Given the description of an element on the screen output the (x, y) to click on. 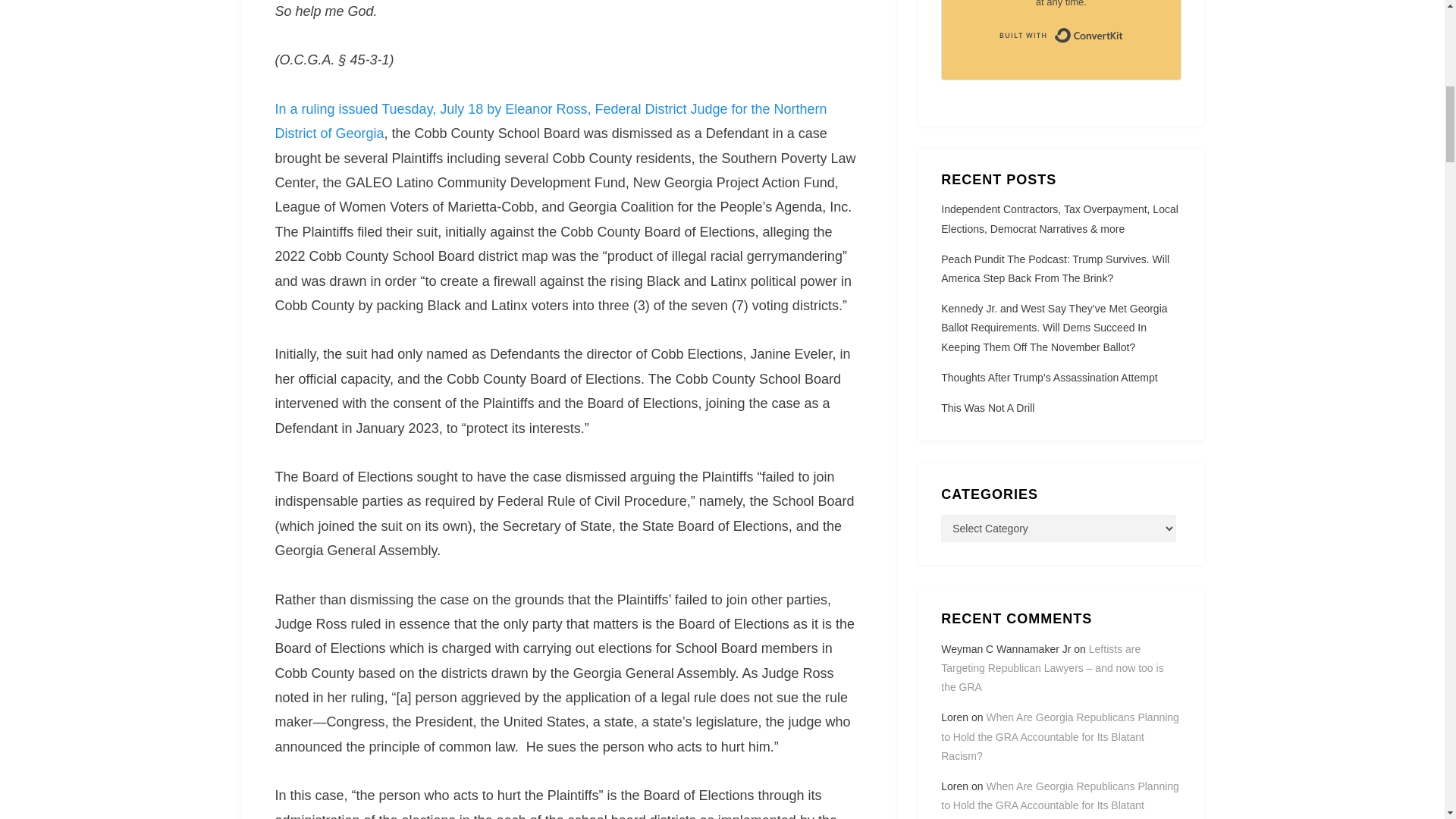
Built with ConvertKit (1060, 35)
